Given the description of an element on the screen output the (x, y) to click on. 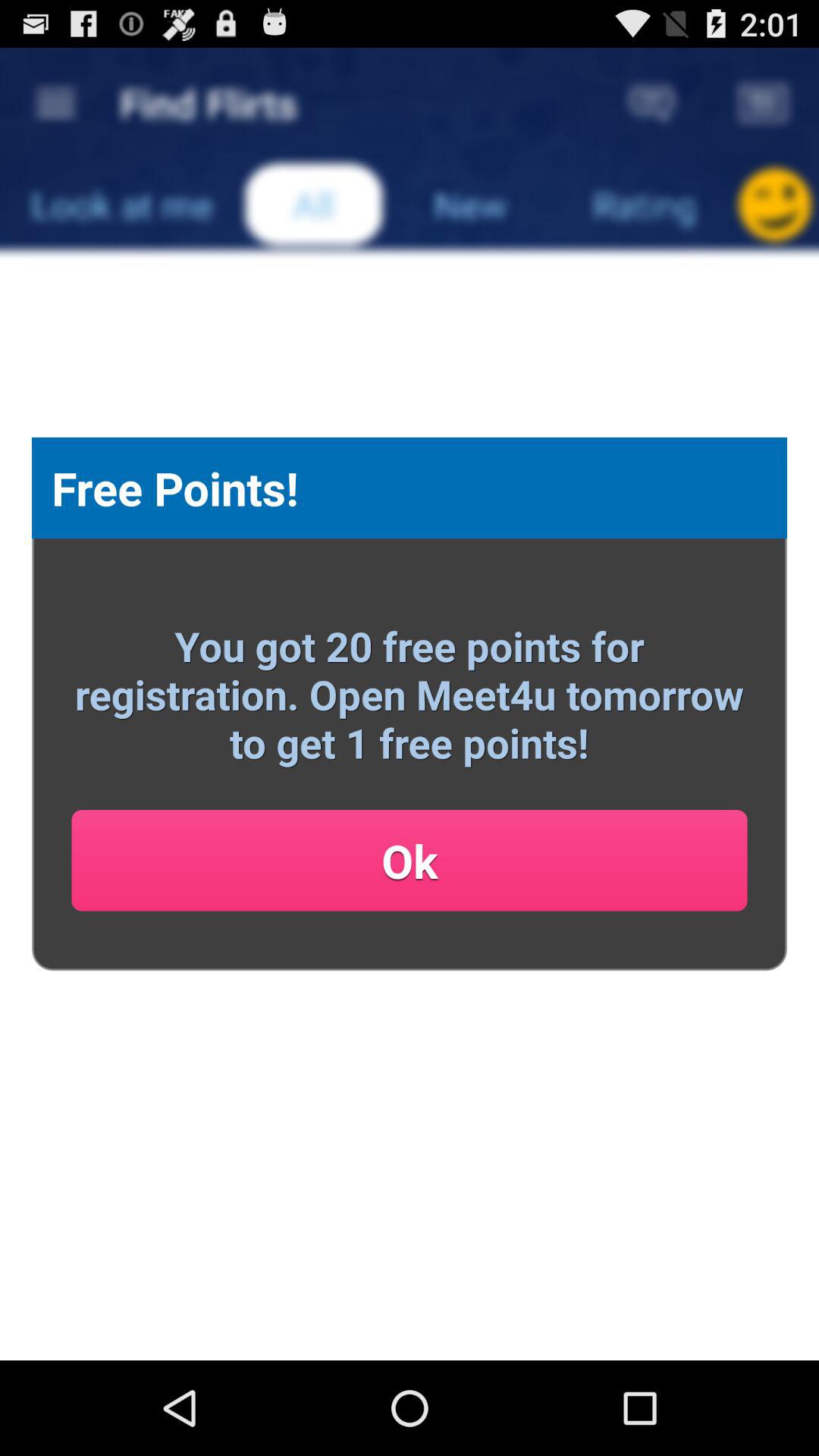
swipe until ok (409, 860)
